Given the description of an element on the screen output the (x, y) to click on. 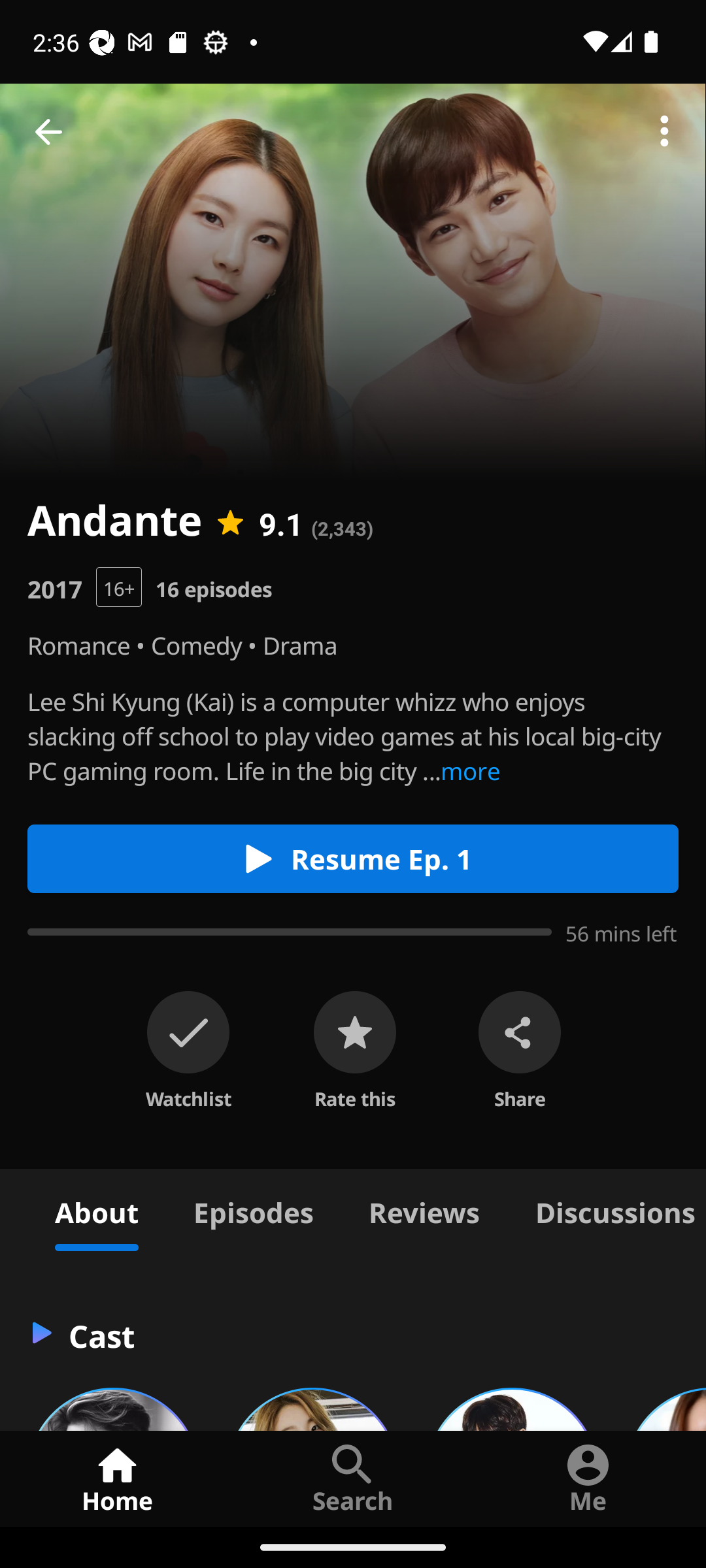
More (664, 131)
on (187, 1032)
Episodes (252, 1209)
Reviews (423, 1209)
Discussions (606, 1209)
Search (352, 1478)
Me (588, 1478)
